Given the description of an element on the screen output the (x, y) to click on. 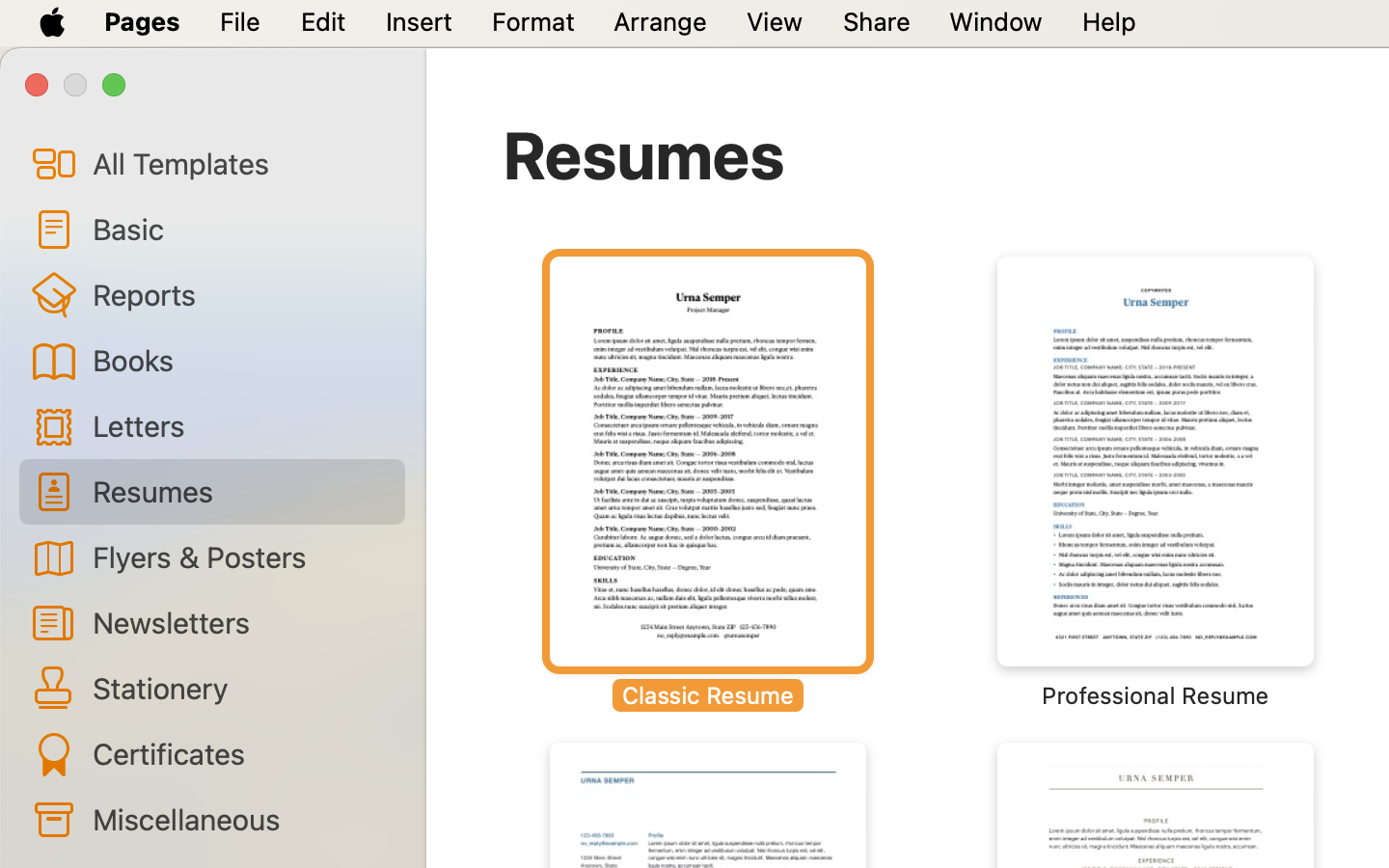
Flyers & Posters Element type: AXStaticText (240, 556)
Resumes Element type: AXStaticText (644, 153)
Newsletters Element type: AXStaticText (240, 621)
